Given the description of an element on the screen output the (x, y) to click on. 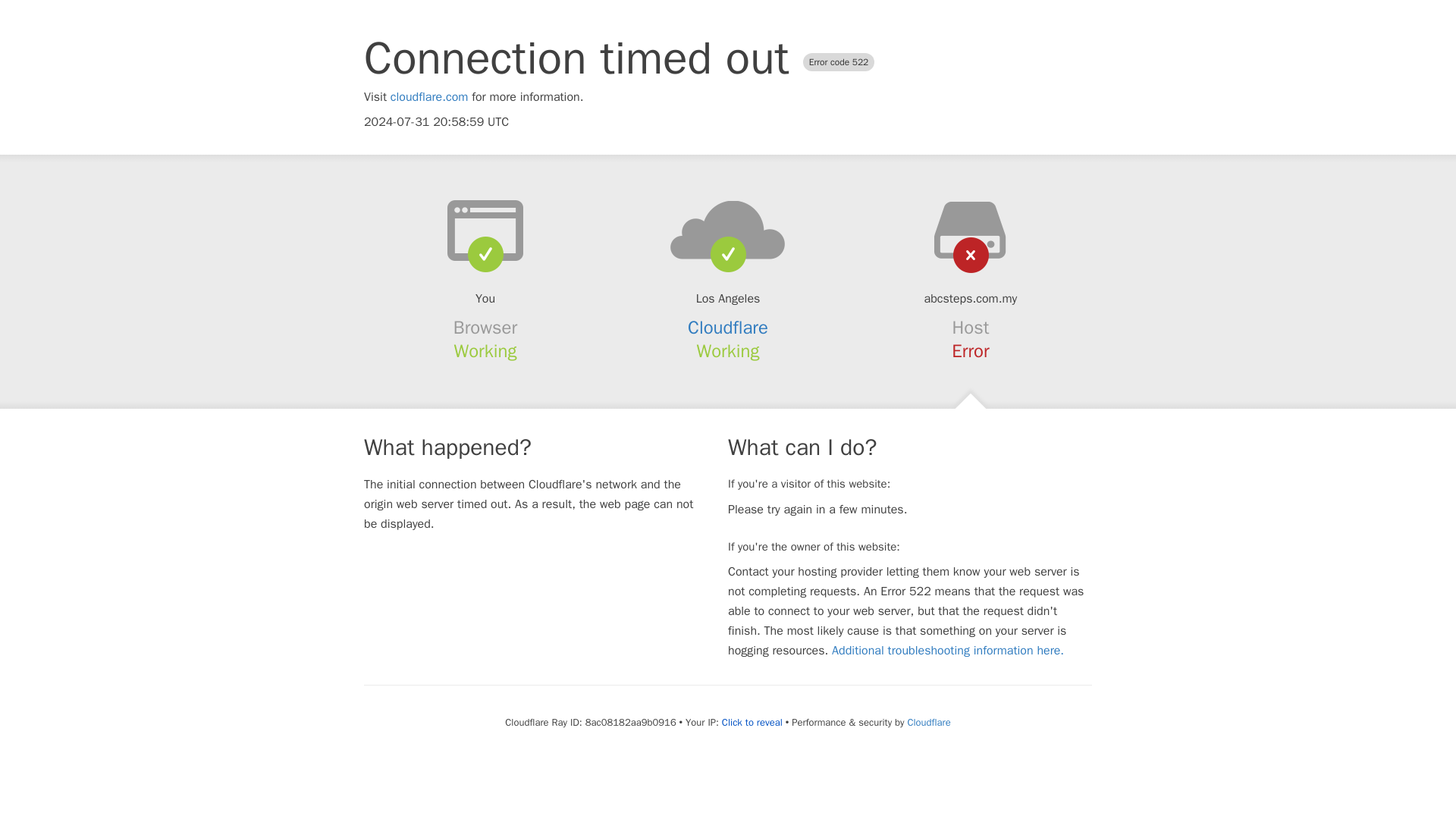
Click to reveal (752, 722)
Cloudflare (727, 327)
cloudflare.com (429, 96)
Cloudflare (928, 721)
Additional troubleshooting information here. (947, 650)
